Given the description of an element on the screen output the (x, y) to click on. 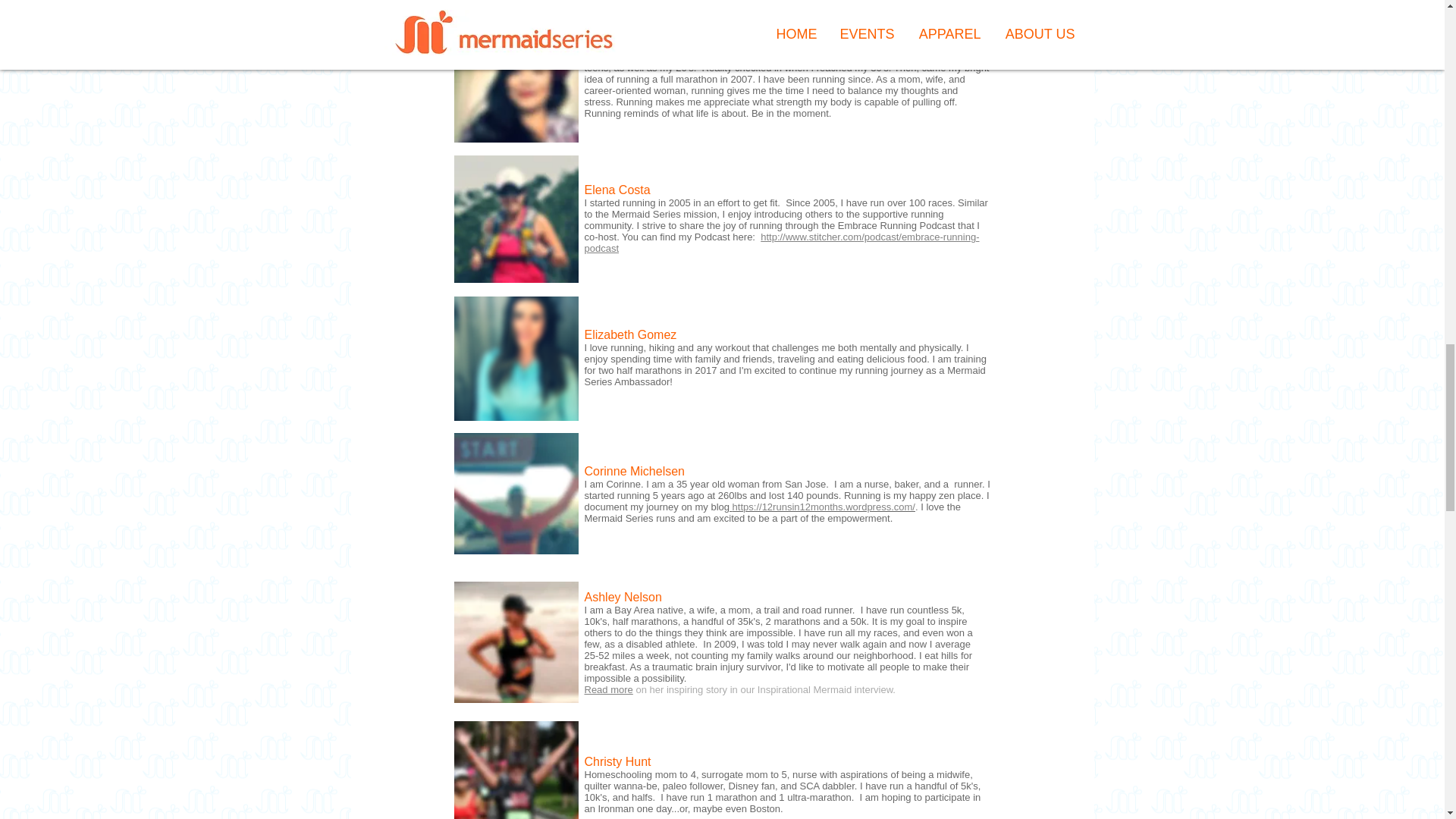
Read more (607, 689)
